Given the description of an element on the screen output the (x, y) to click on. 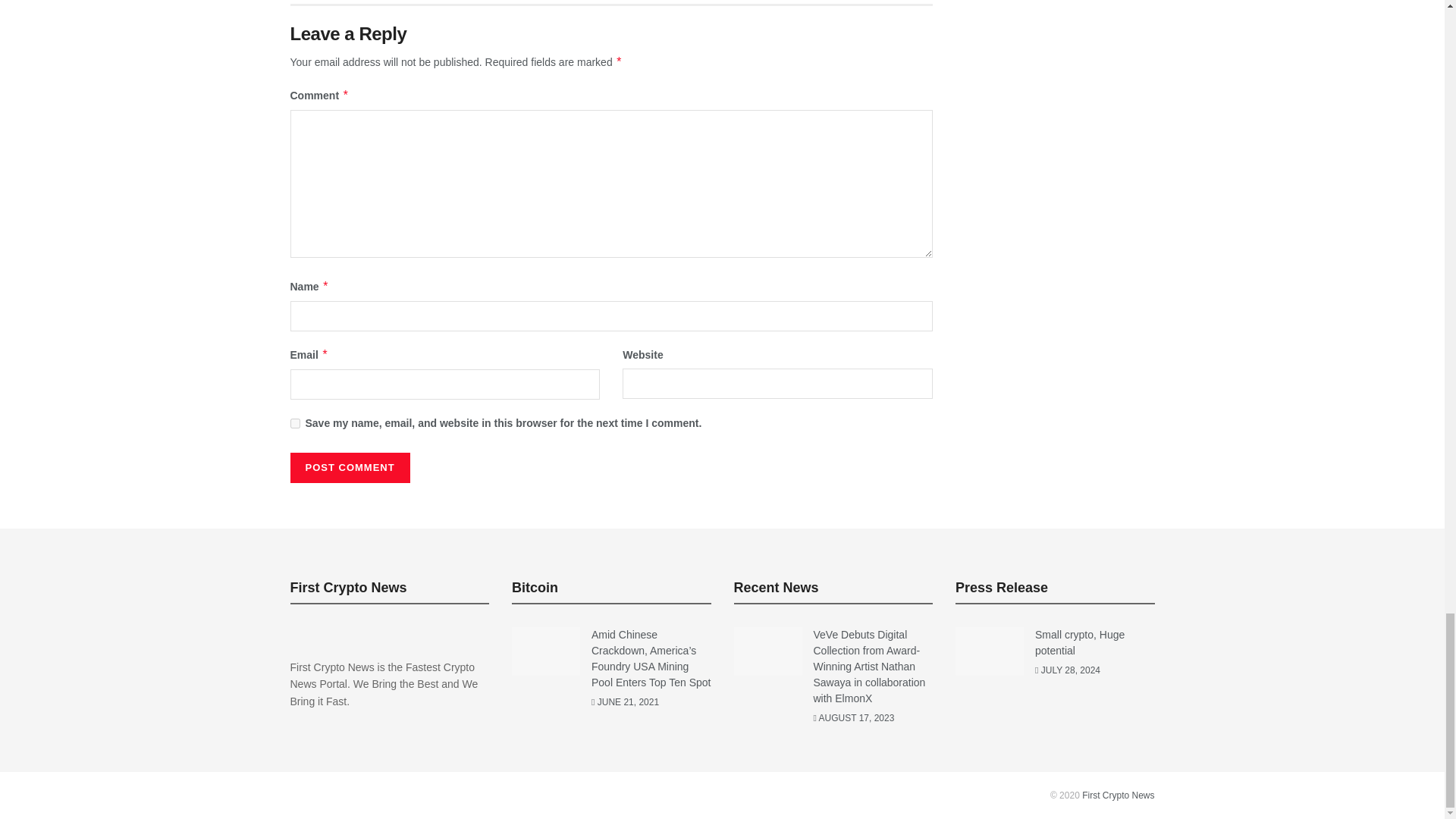
yes (294, 423)
Post Comment (349, 467)
